Given the description of an element on the screen output the (x, y) to click on. 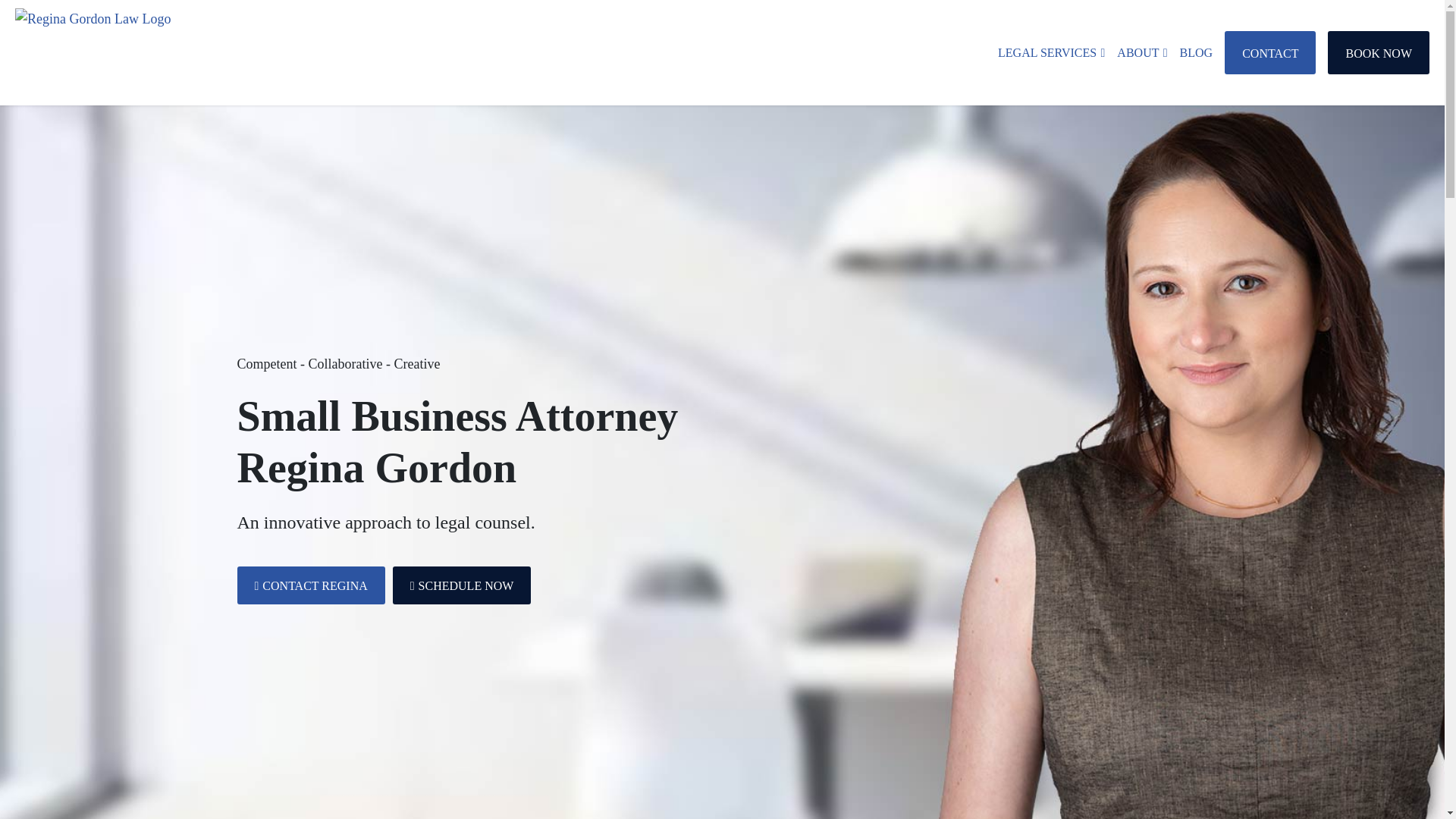
ABOUT (1141, 52)
BLOG (1195, 52)
CONTACT REGINA (309, 585)
LEGAL SERVICES (1051, 52)
CONTACT (1270, 52)
BOOK NOW (1378, 52)
SCHEDULE NOW (462, 585)
